Given the description of an element on the screen output the (x, y) to click on. 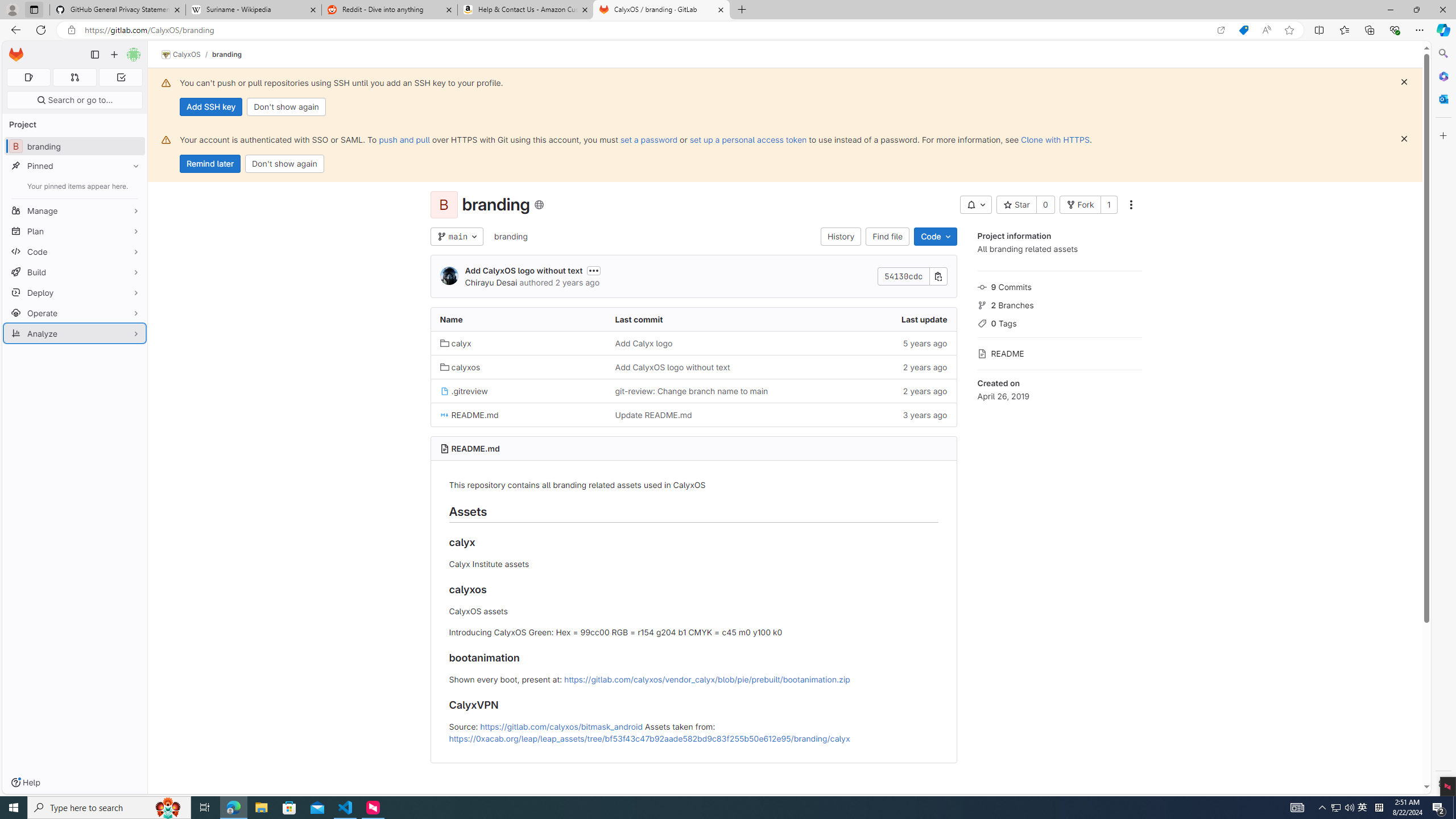
CalyxOS/ (186, 54)
Plan (74, 230)
Class: s16 gl-icon gl-button-icon  (1404, 138)
branding (510, 236)
9 Commits (1058, 286)
README.md (475, 447)
CalyxOS (180, 54)
Create new... (113, 54)
Class: s16 icon (538, 204)
Update README.md (652, 414)
Operate (74, 312)
README.md (517, 414)
Toggle commit description (593, 270)
